Given the description of an element on the screen output the (x, y) to click on. 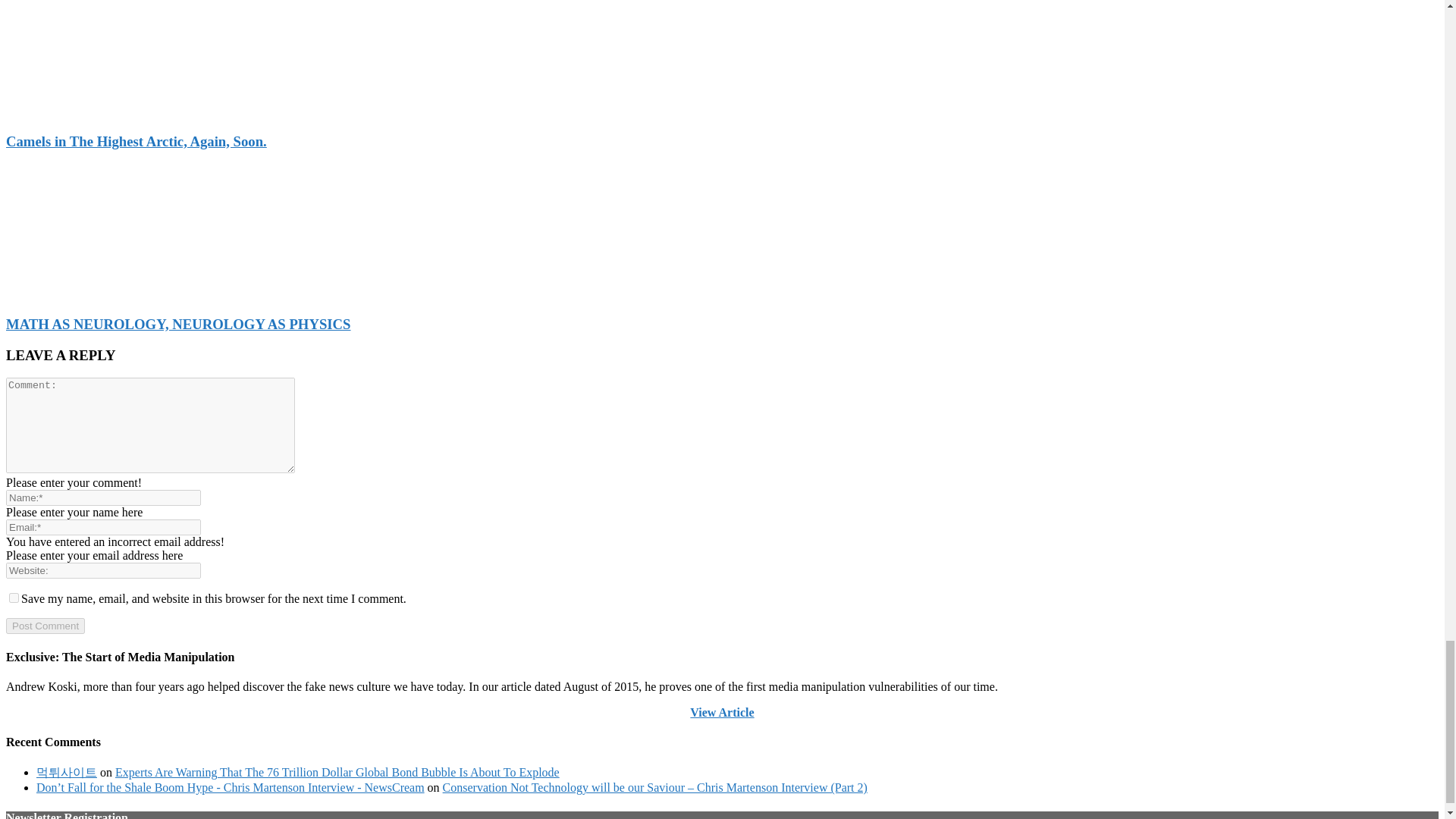
yes (13, 597)
Post Comment (44, 625)
